Given the description of an element on the screen output the (x, y) to click on. 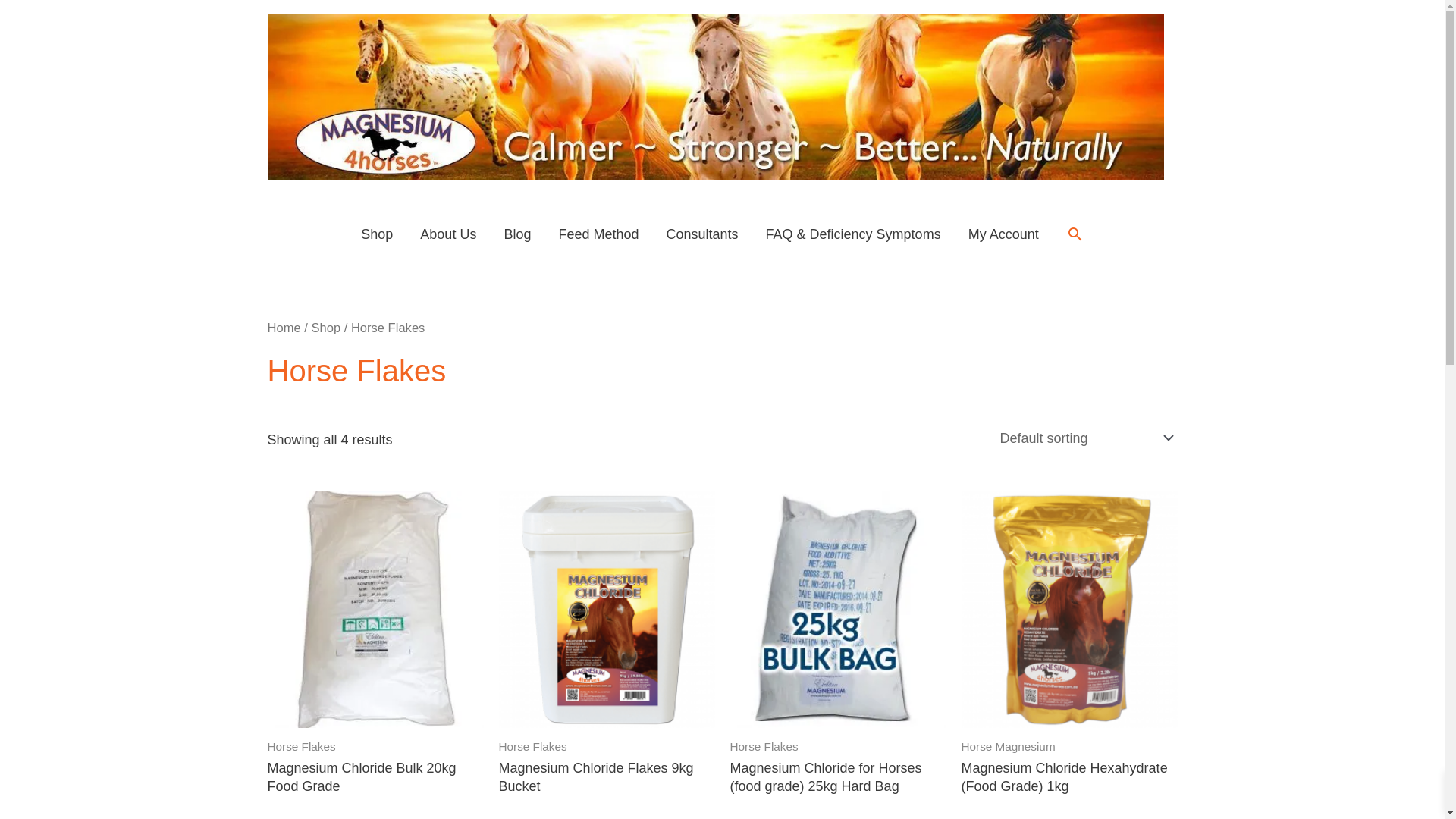
Search Element type: text (1074, 233)
Feed Method Element type: text (598, 234)
FAQ & Deficiency Symptoms Element type: text (853, 234)
My Account Element type: text (1003, 234)
About Us Element type: text (447, 234)
Shop Element type: text (376, 234)
Magnesium Chloride for Horses (food grade) 25kg Hard Bag Element type: text (837, 780)
Blog Element type: text (516, 234)
Magnesium Chloride Hexahydrate (Food Grade) 1kg Element type: text (1069, 780)
Home Element type: text (283, 327)
Magnesium Chloride Flakes 9kg Bucket Element type: text (606, 780)
Consultants Element type: text (701, 234)
Magnesium Chloride Bulk 20kg Food Grade Element type: text (374, 780)
Shop Element type: text (325, 327)
